Given the description of an element on the screen output the (x, y) to click on. 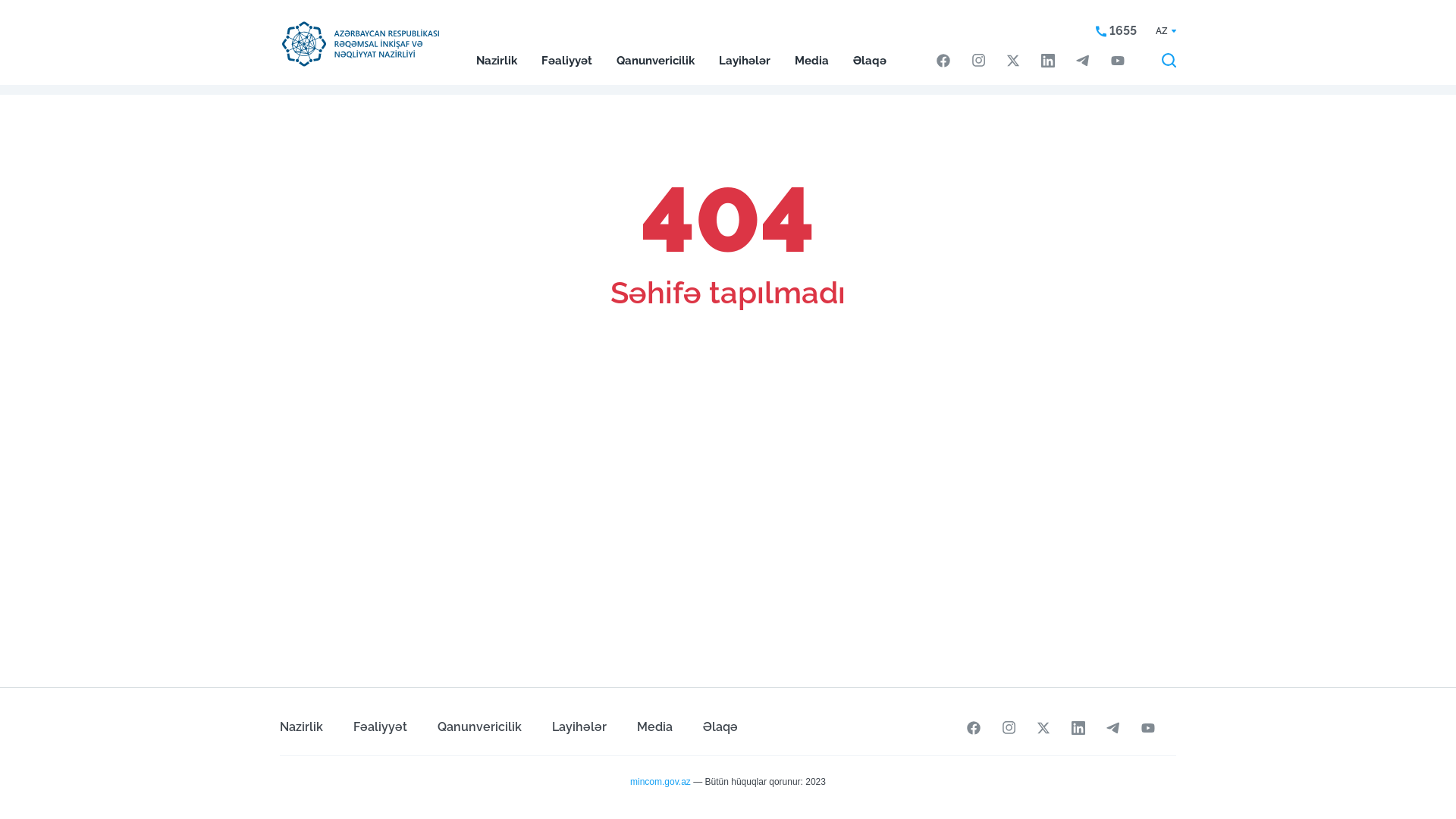
Qanunvericilik Element type: text (479, 719)
1655 Element type: text (1115, 30)
mincom.gov.az Element type: text (660, 781)
Media Element type: text (654, 719)
AZ Element type: text (1165, 30)
Nazirlik Element type: text (308, 719)
